Given the description of an element on the screen output the (x, y) to click on. 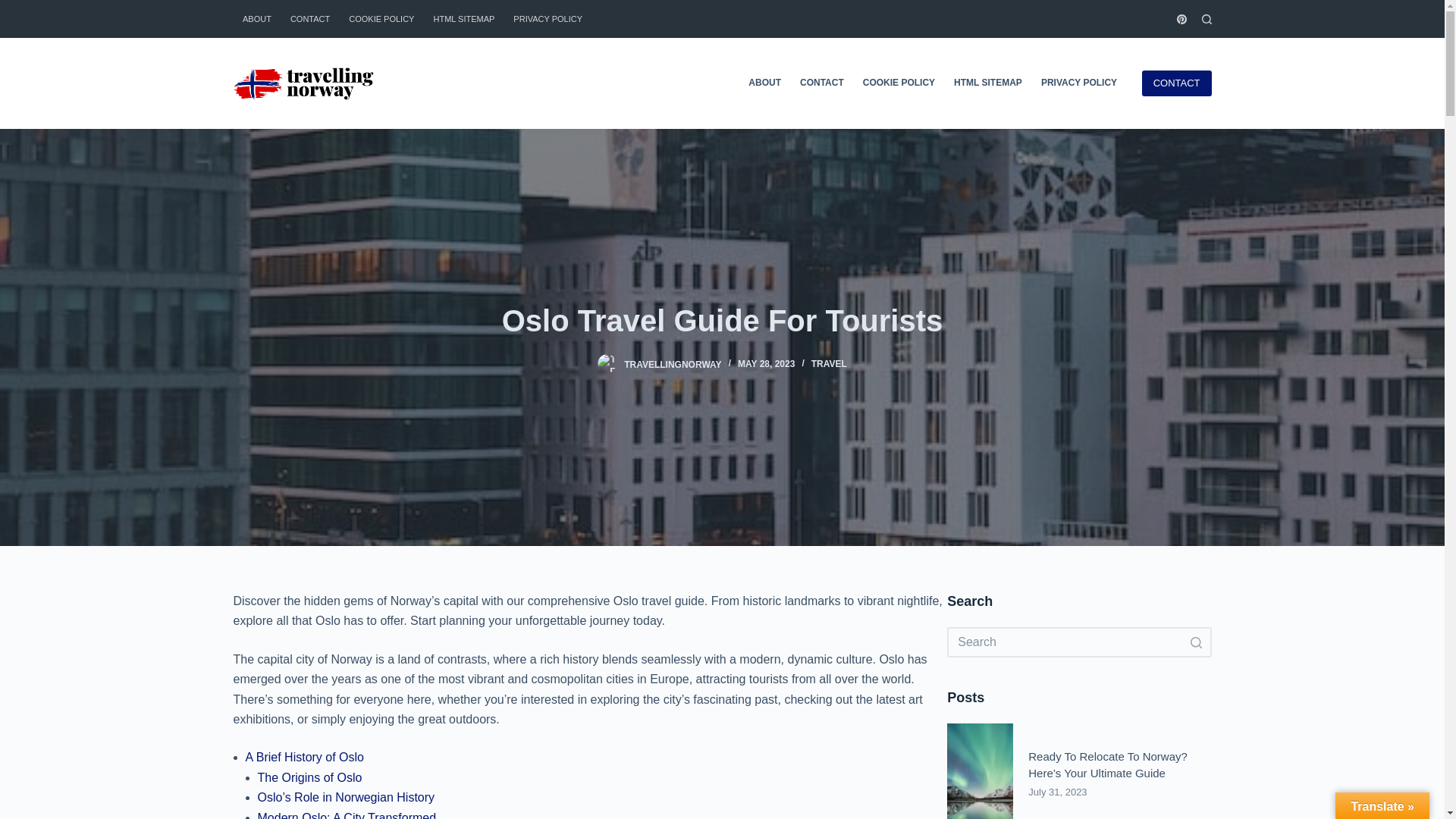
Oslo Travel Guide For Tourists (605, 363)
COOKIE POLICY (381, 18)
The Origins of Oslo (309, 777)
TRAVEL (828, 363)
COOKIE POLICY (898, 82)
CONTACT (1176, 83)
PRIVACY POLICY (547, 18)
HTML SITEMAP (463, 18)
Travelling Norway (303, 83)
Modern Oslo: A City Transformed (346, 815)
ABOUT (256, 18)
Oslo Travel Guide For Tourists (722, 319)
A Brief History of Oslo (305, 757)
TRAVELLINGNORWAY (672, 363)
PRIVACY POLICY (1077, 82)
